Given the description of an element on the screen output the (x, y) to click on. 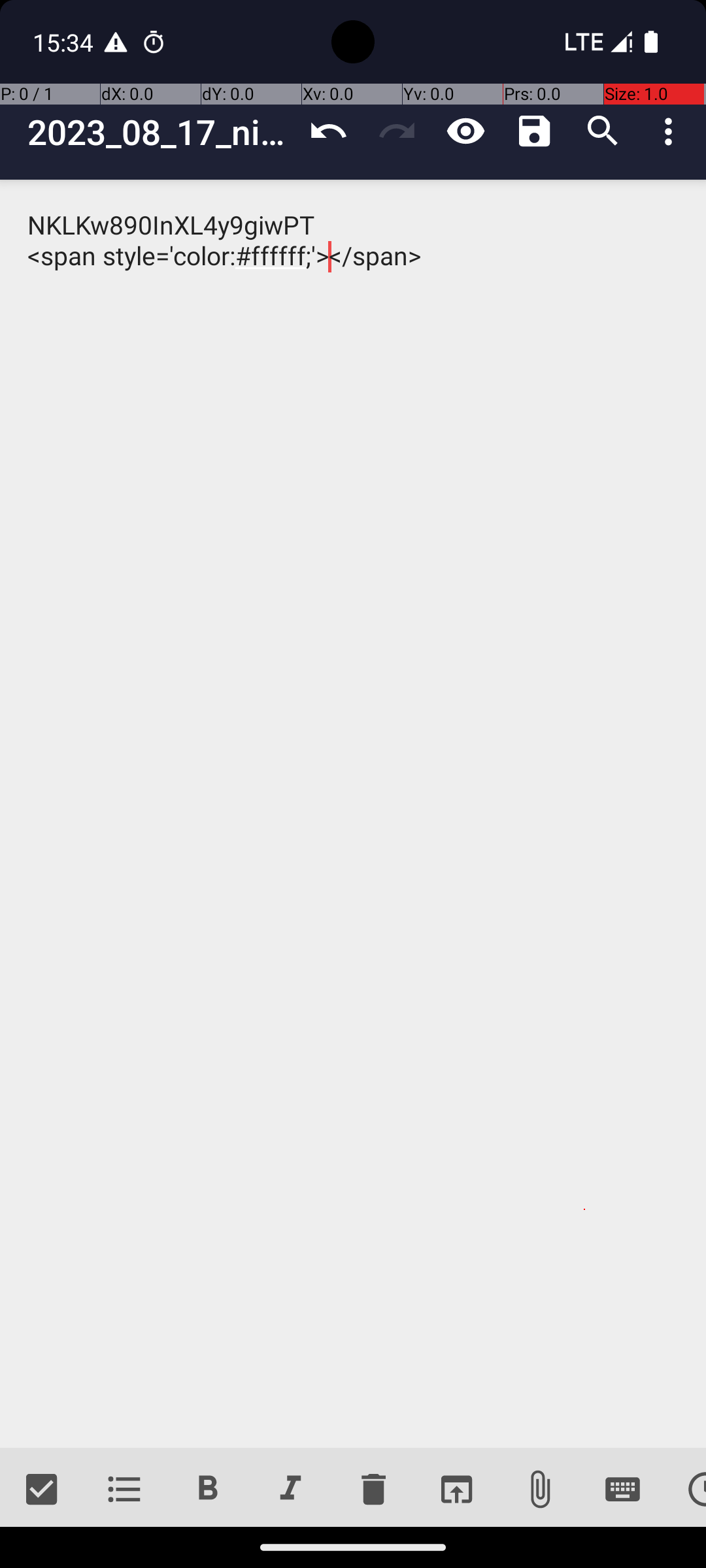
2023_08_17_nice_mouse Element type: android.widget.TextView (160, 131)
NKLKw890InXL4y9giwPT
<span style='color:#ffffff;'></span> Element type: android.widget.EditText (353, 813)
